Given the description of an element on the screen output the (x, y) to click on. 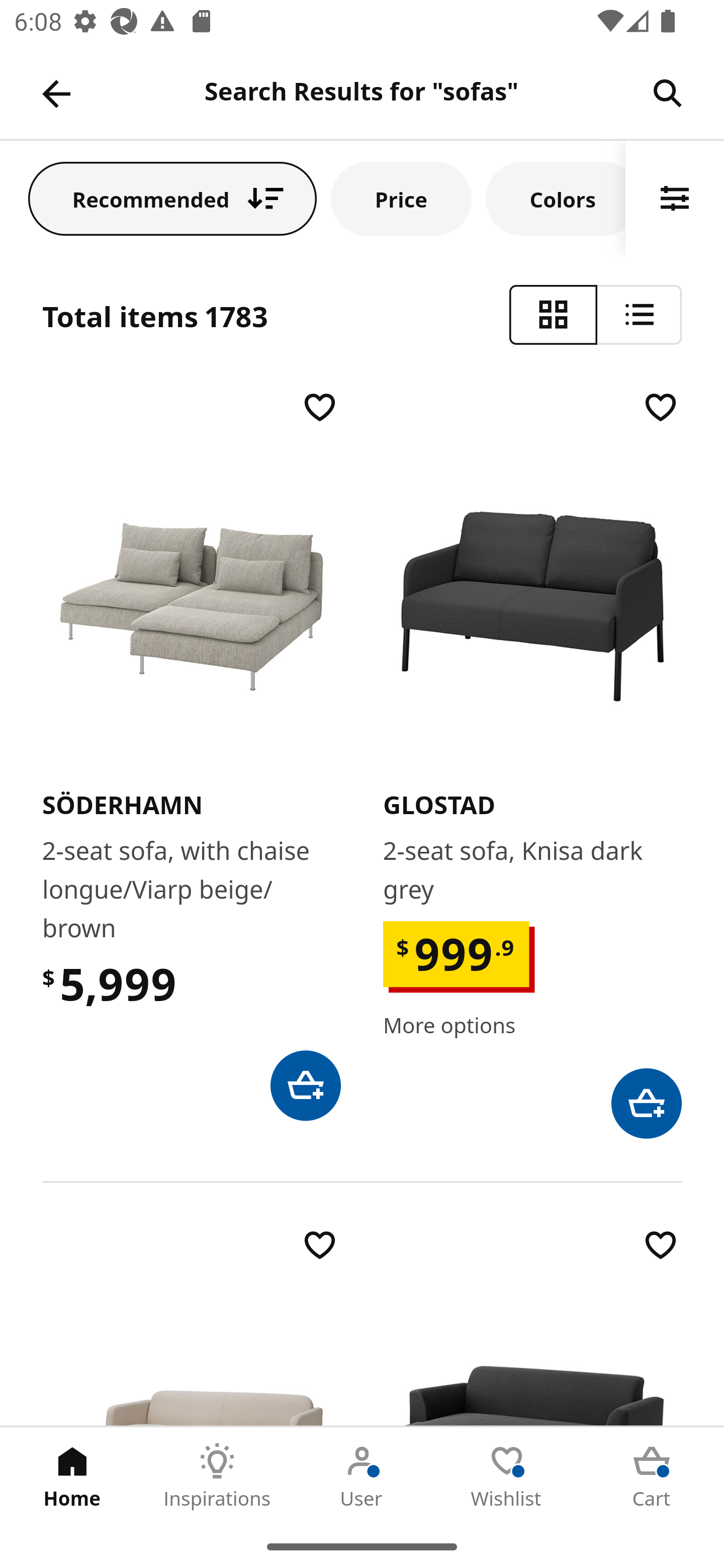
Recommended (172, 198)
Price (400, 198)
Colors (555, 198)
Home
Tab 1 of 5 (72, 1476)
Inspirations
Tab 2 of 5 (216, 1476)
User
Tab 3 of 5 (361, 1476)
Wishlist
Tab 4 of 5 (506, 1476)
Cart
Tab 5 of 5 (651, 1476)
